Given the description of an element on the screen output the (x, y) to click on. 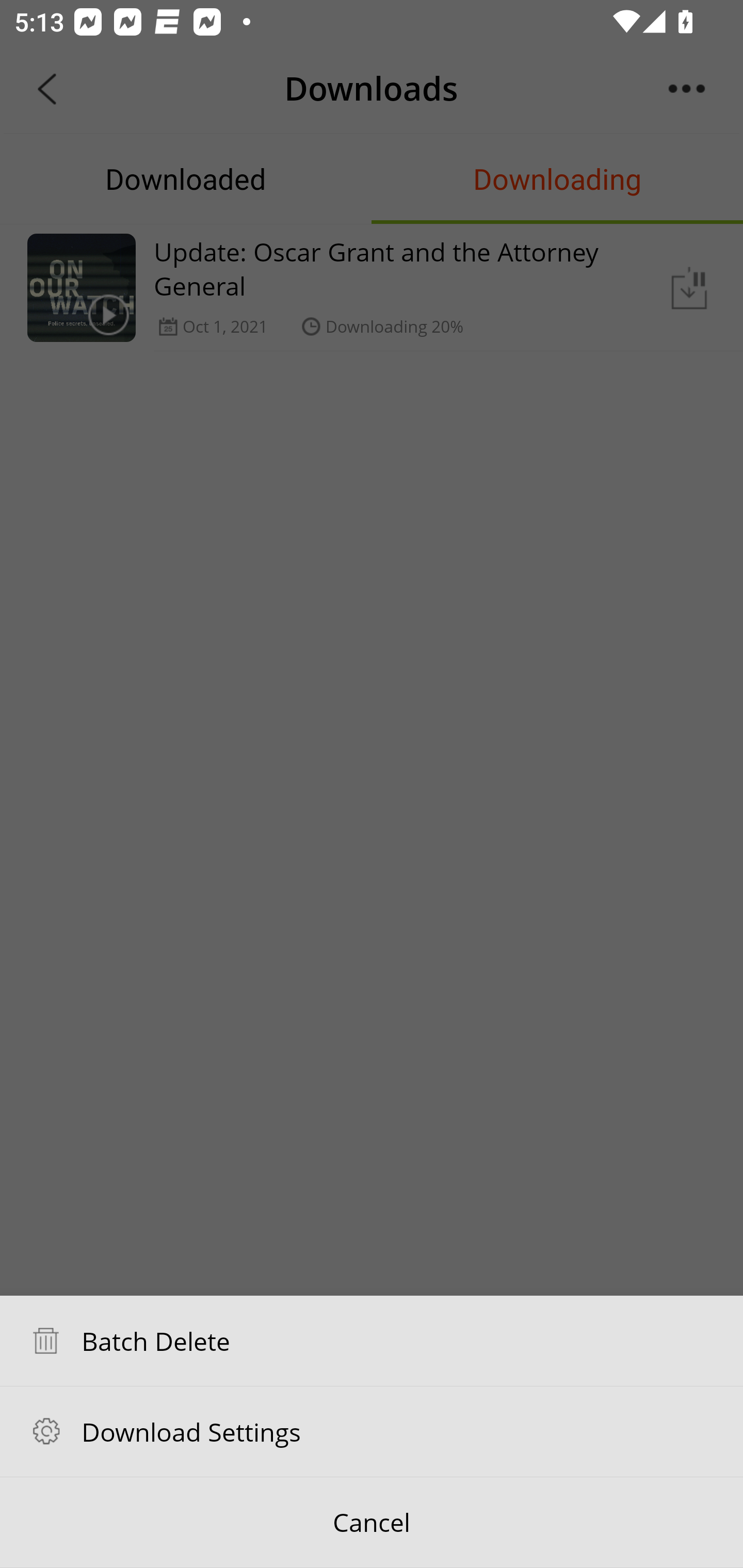
Batch Delete (371, 1340)
Download Settings (371, 1431)
Cancel (371, 1522)
